Given the description of an element on the screen output the (x, y) to click on. 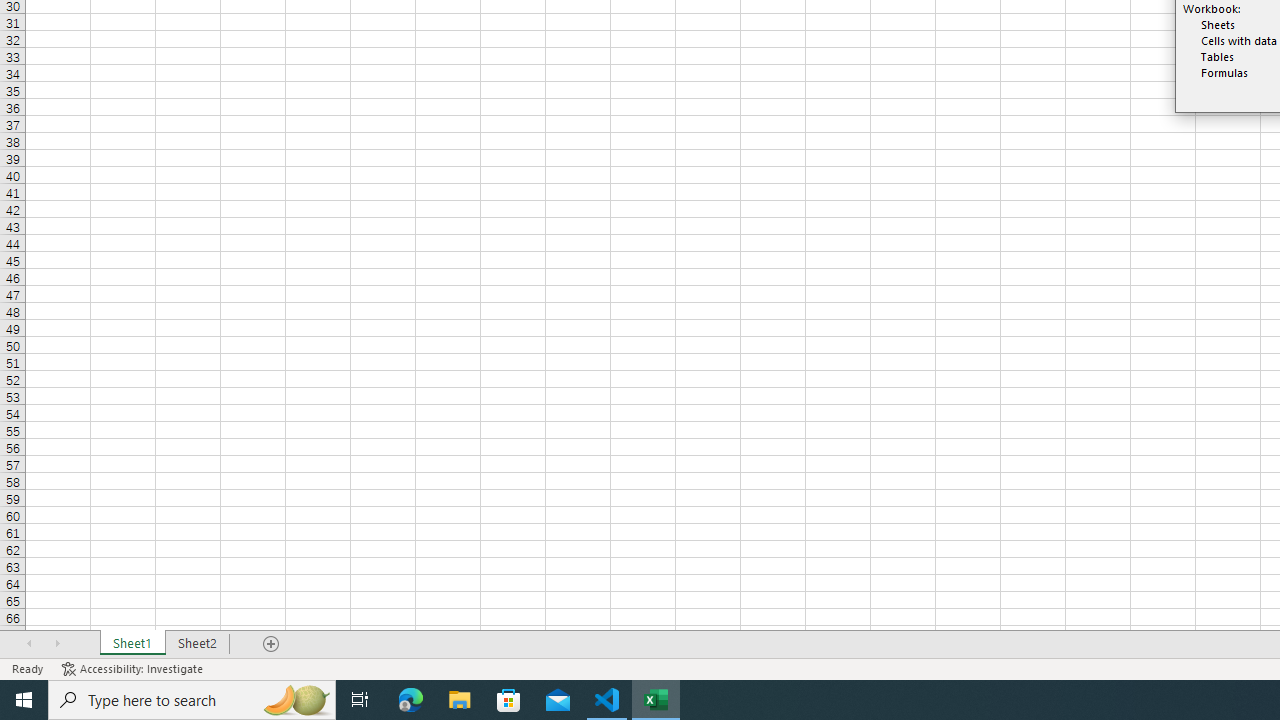
Task View (359, 699)
Sheet2 (197, 644)
Type here to search (191, 699)
File Explorer (460, 699)
Start (24, 699)
Accessibility Checker Accessibility: Investigate (134, 668)
Excel - 1 running window (656, 699)
Microsoft Edge (411, 699)
Search highlights icon opens search home window (295, 699)
Visual Studio Code - 1 running window (607, 699)
